Given the description of an element on the screen output the (x, y) to click on. 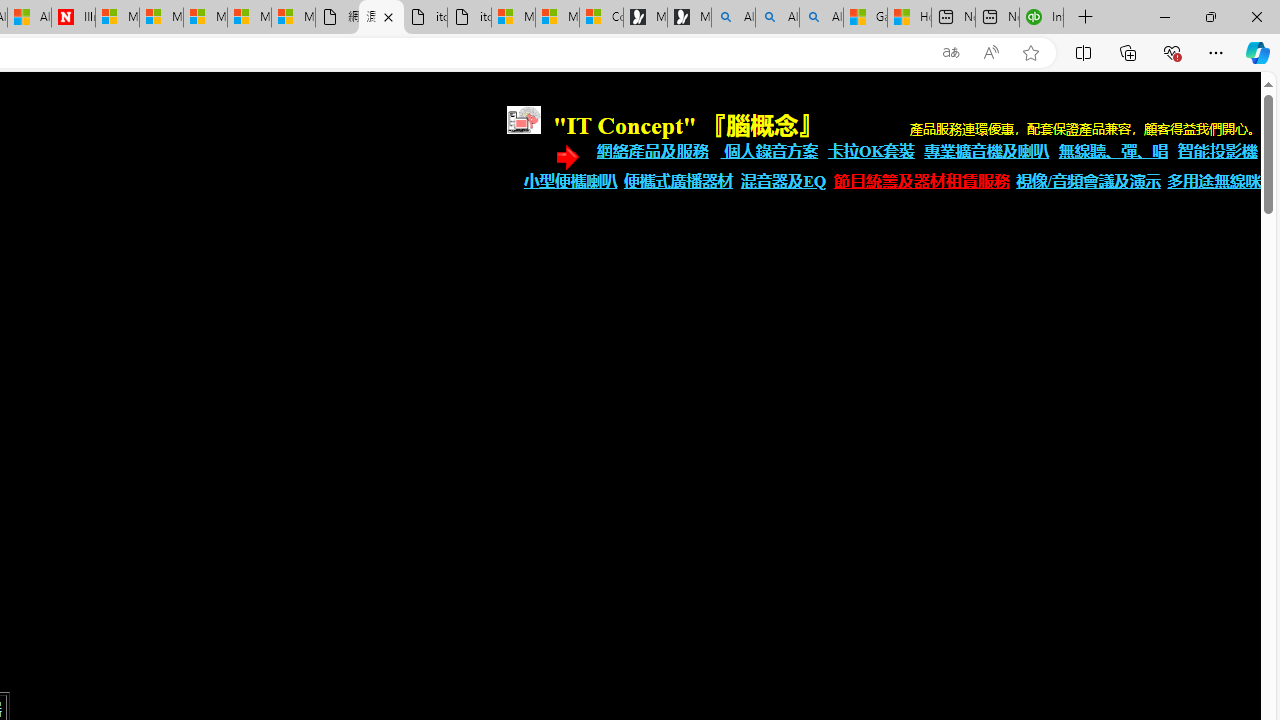
itconcepthk.com/projector_solutions.mp4 (469, 17)
Show translate options (950, 53)
Alabama high school quarterback dies - Search (733, 17)
